Given the description of an element on the screen output the (x, y) to click on. 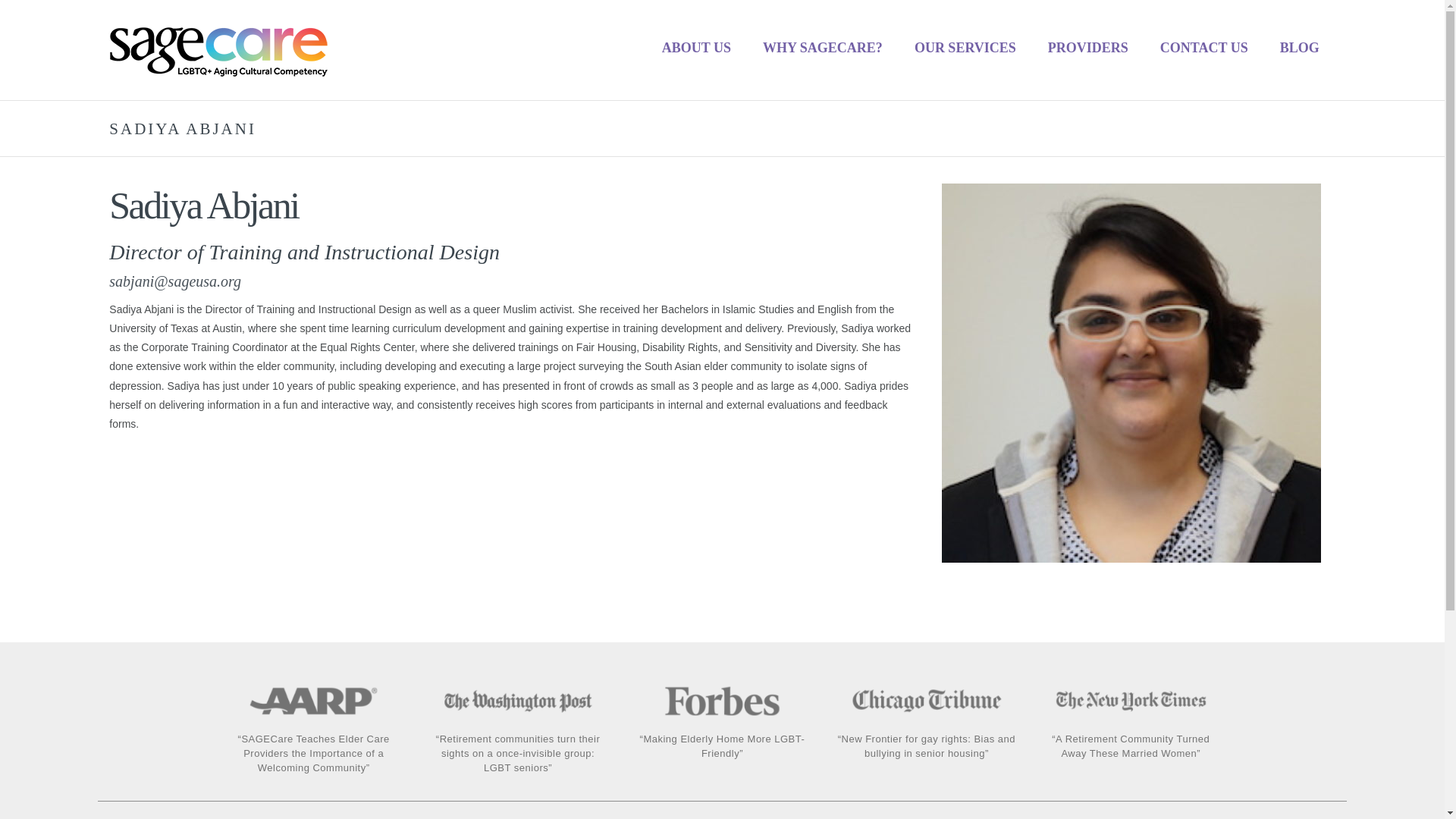
BLOG (1299, 47)
PROVIDERS (1088, 47)
ABOUT US (696, 47)
WHY SAGECARE? (822, 47)
OUR SERVICES (965, 47)
CONTACT US (1203, 47)
